Given the description of an element on the screen output the (x, y) to click on. 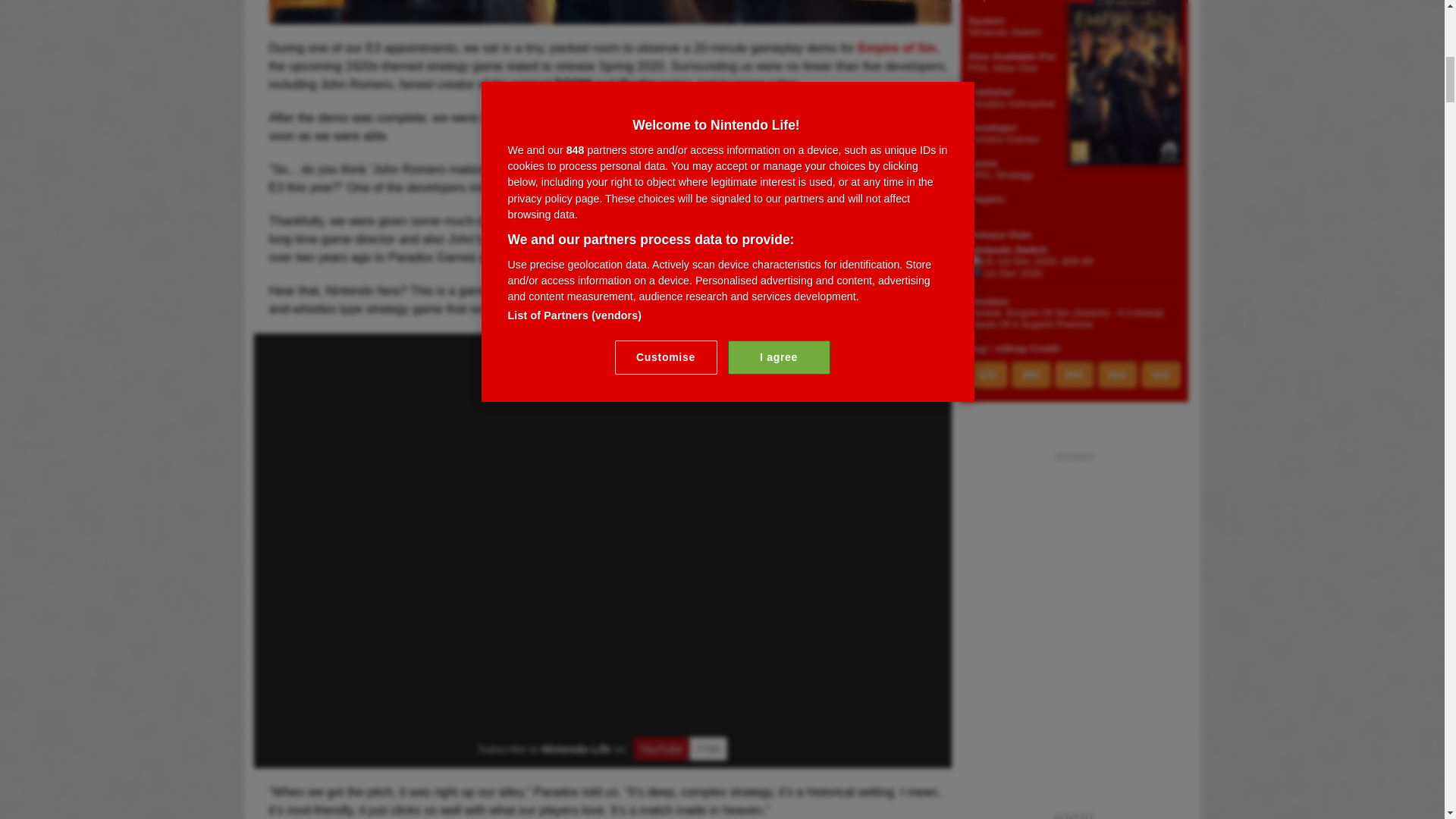
Empire of Sin (608, 14)
